Given the description of an element on the screen output the (x, y) to click on. 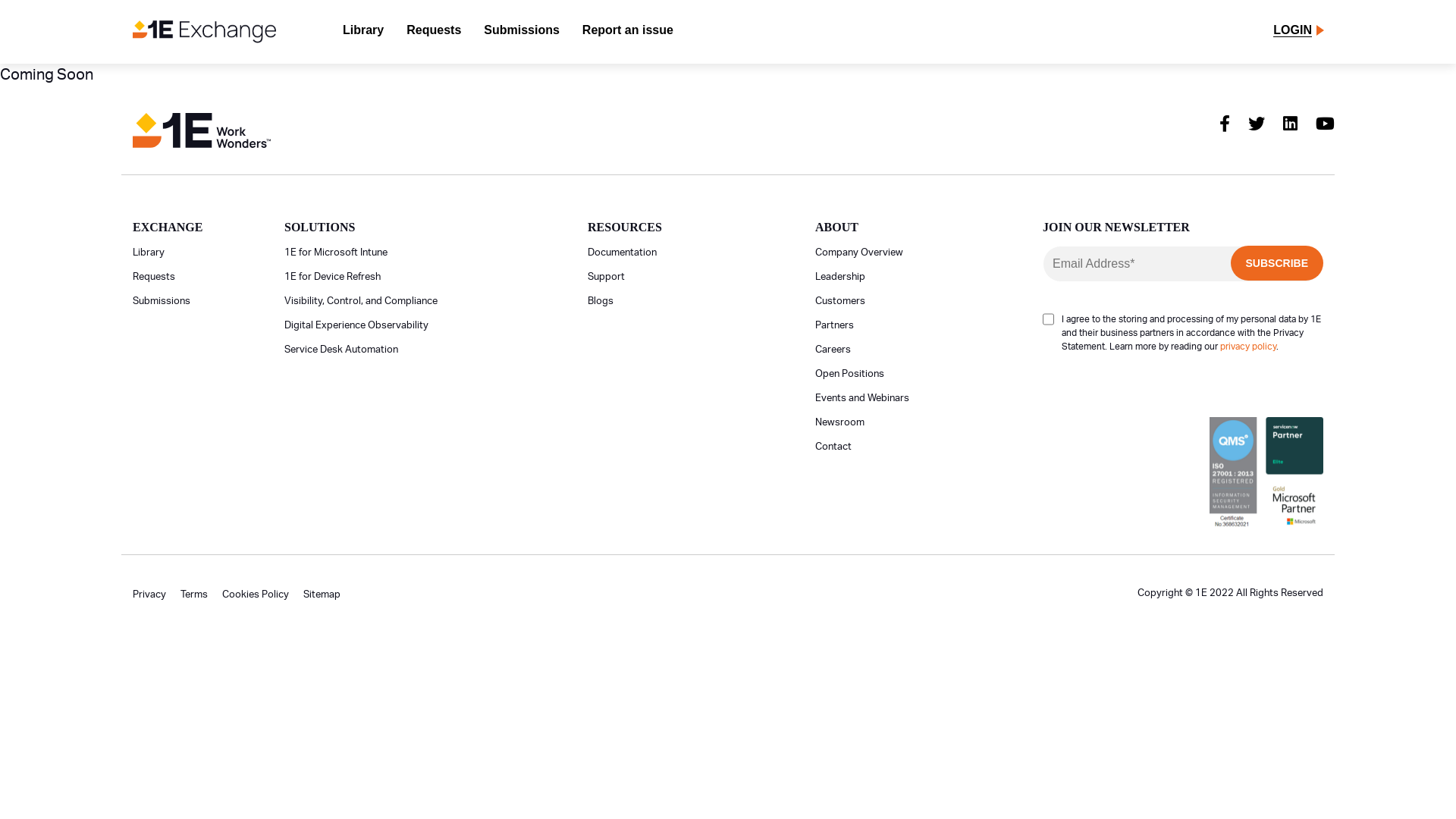
privacy policy Element type: text (1248, 346)
Newsroom Element type: text (839, 422)
footer-seals Element type: hover (1266, 472)
Cookies Policy Element type: text (255, 594)
LOGIN Element type: text (1292, 31)
Requests Element type: text (433, 31)
Careers Element type: text (832, 349)
Report an issue Element type: text (627, 31)
Submissions Element type: text (521, 31)
Digital Experience Observability Element type: text (356, 325)
Events and Webinars Element type: text (862, 398)
Library Element type: text (148, 252)
Requests Element type: text (153, 277)
Submissions Element type: text (161, 301)
1E-logo-color-horizontal-tagline-1 Element type: hover (201, 129)
1E for Device Refresh Element type: text (332, 277)
Visibility, Control, and Compliance Element type: text (360, 301)
Subscribe Element type: text (1276, 262)
Sitemap Element type: text (321, 594)
Leadership Element type: text (840, 277)
Contact Element type: text (833, 446)
Open Positions Element type: text (849, 374)
Service Desk Automation Element type: text (341, 349)
Support Element type: text (605, 277)
Customers Element type: text (840, 301)
Library Element type: text (362, 31)
Terms Element type: text (193, 594)
1E for Microsoft Intune Element type: text (335, 252)
Privacy Element type: text (149, 594)
Documentation Element type: text (621, 252)
Company Overview Element type: text (859, 252)
Partners Element type: text (834, 325)
Blogs Element type: text (600, 301)
